Given the description of an element on the screen output the (x, y) to click on. 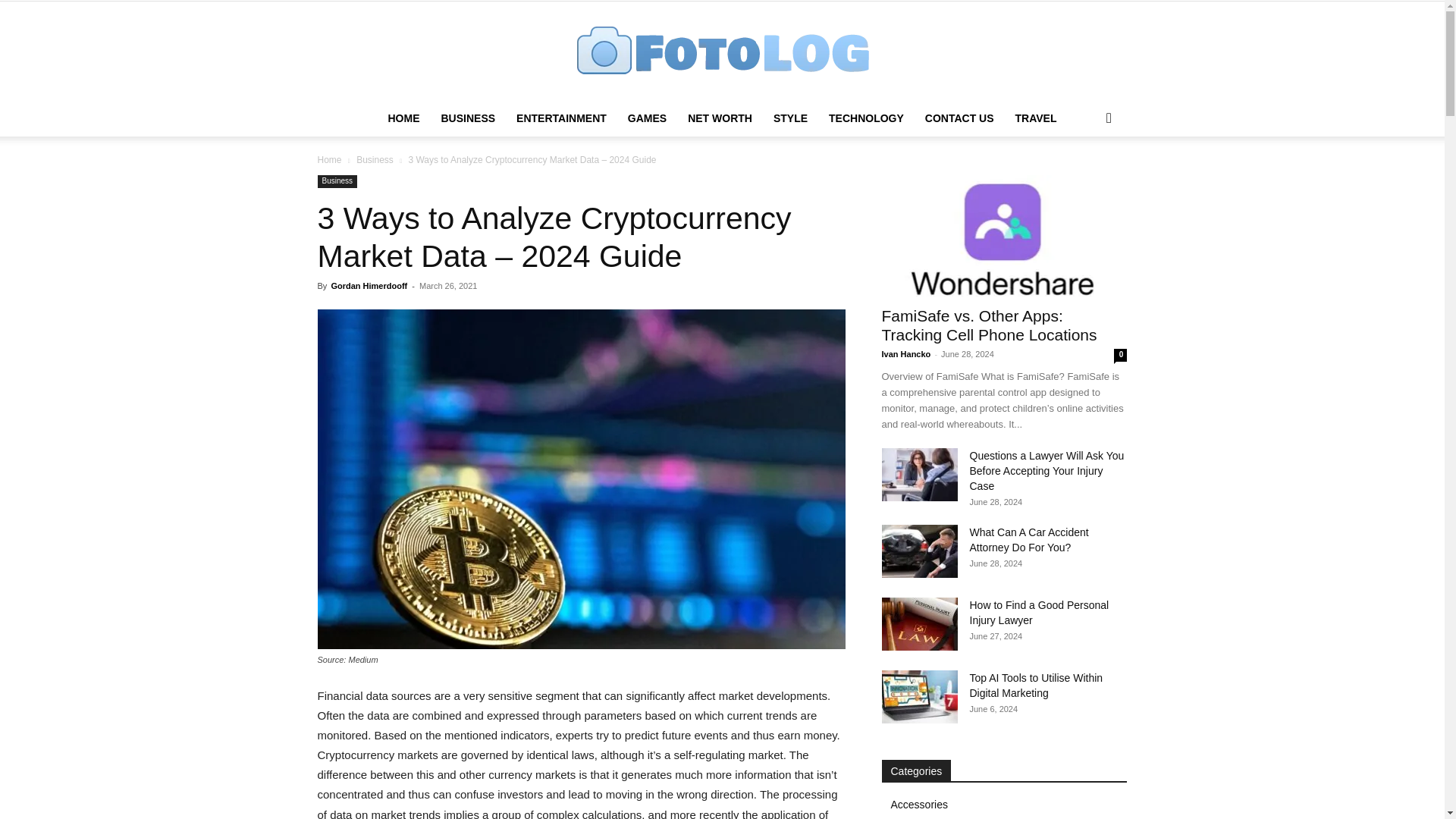
TECHNOLOGY (866, 117)
STYLE (790, 117)
GAMES (647, 117)
NET WORTH (719, 117)
Gordan Himerdooff (368, 285)
Home (328, 159)
CONTACT US (959, 117)
Business (336, 181)
TRAVEL (1035, 117)
BUSINESS (467, 117)
ENTERTAINMENT (561, 117)
HOME (403, 117)
Search (1085, 178)
View all posts in Business (374, 159)
